Given the description of an element on the screen output the (x, y) to click on. 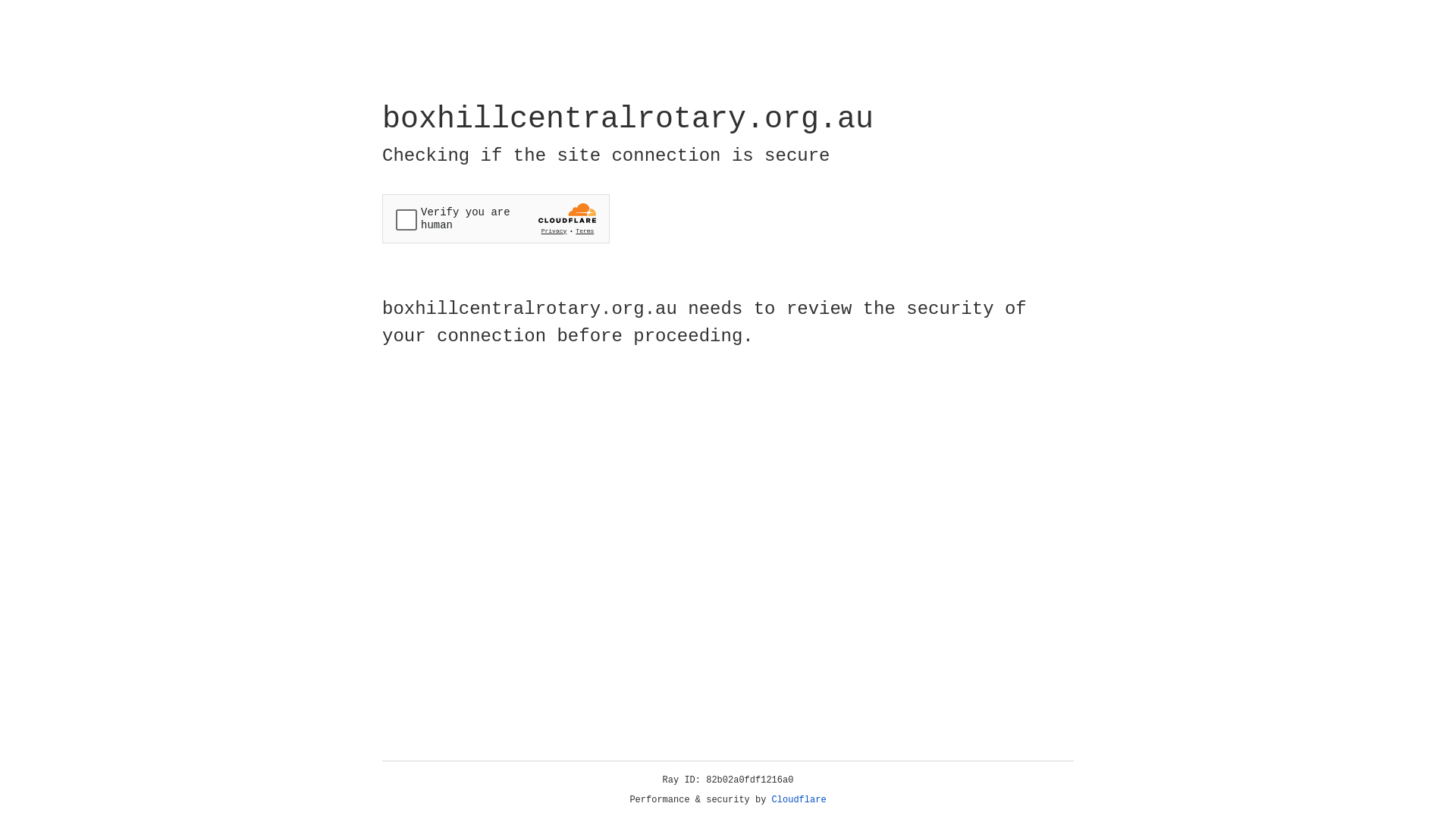
Cloudflare Element type: text (798, 799)
Widget containing a Cloudflare security challenge Element type: hover (495, 218)
